Given the description of an element on the screen output the (x, y) to click on. 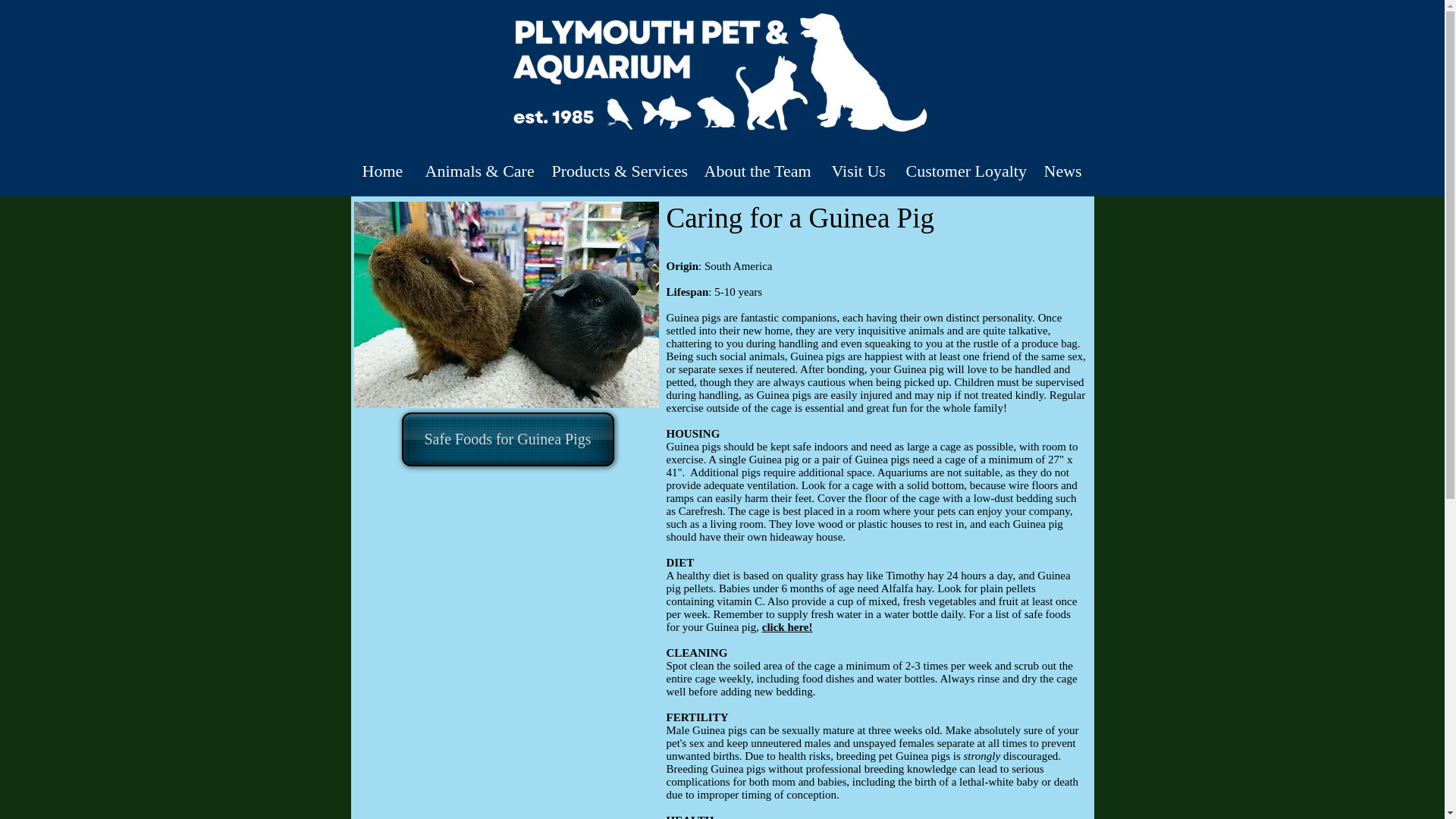
News (1061, 170)
Safe Foods for Guinea Pigs (507, 439)
Home (381, 170)
Visit Us (858, 170)
Customer Loyalty (963, 170)
About the Team (757, 170)
click here! (786, 626)
